Given the description of an element on the screen output the (x, y) to click on. 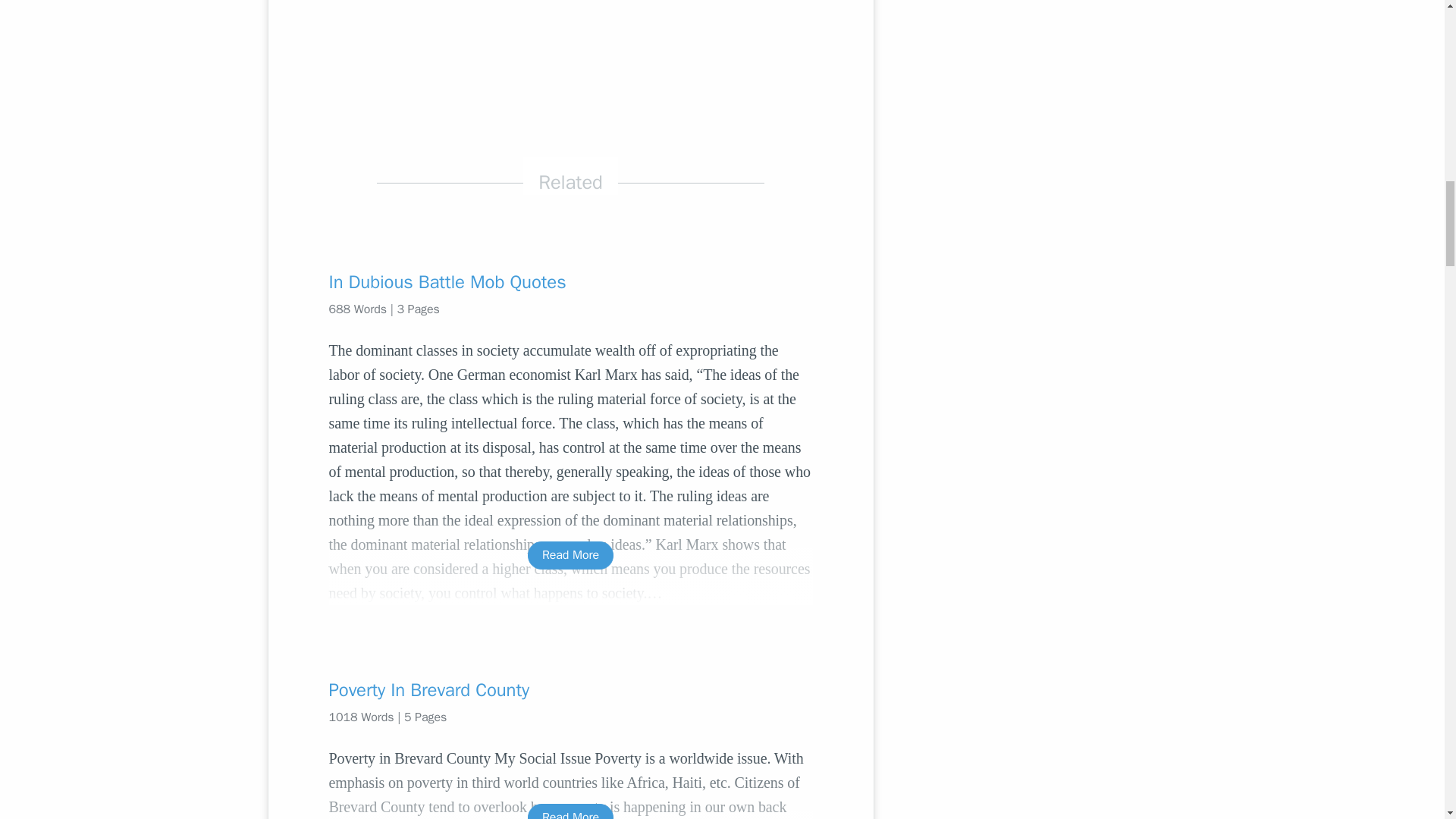
Read More (569, 811)
Poverty In Brevard County (570, 689)
In Dubious Battle Mob Quotes (570, 282)
Read More (569, 555)
